Given the description of an element on the screen output the (x, y) to click on. 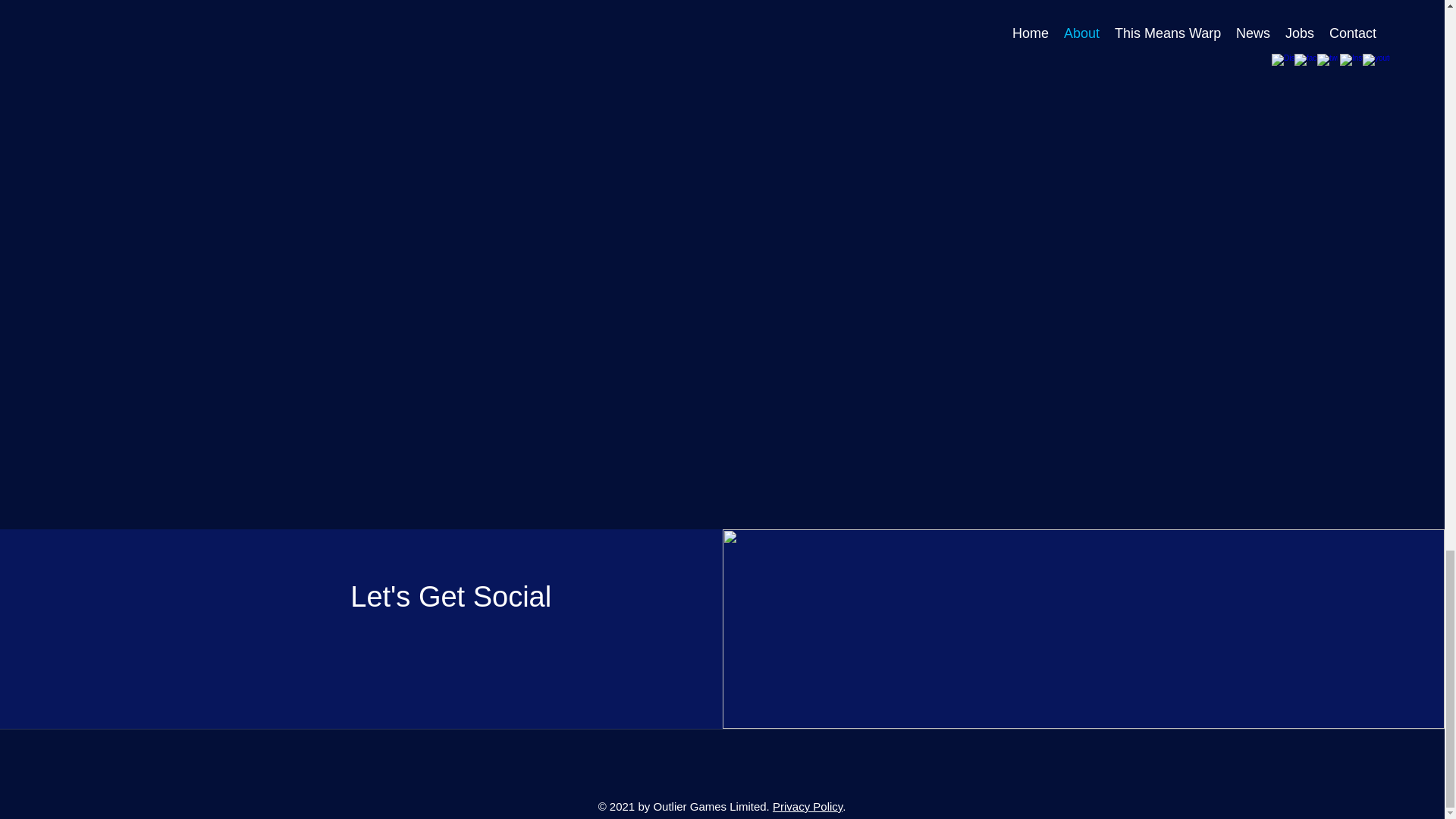
Privacy Policy (808, 806)
